Given the description of an element on the screen output the (x, y) to click on. 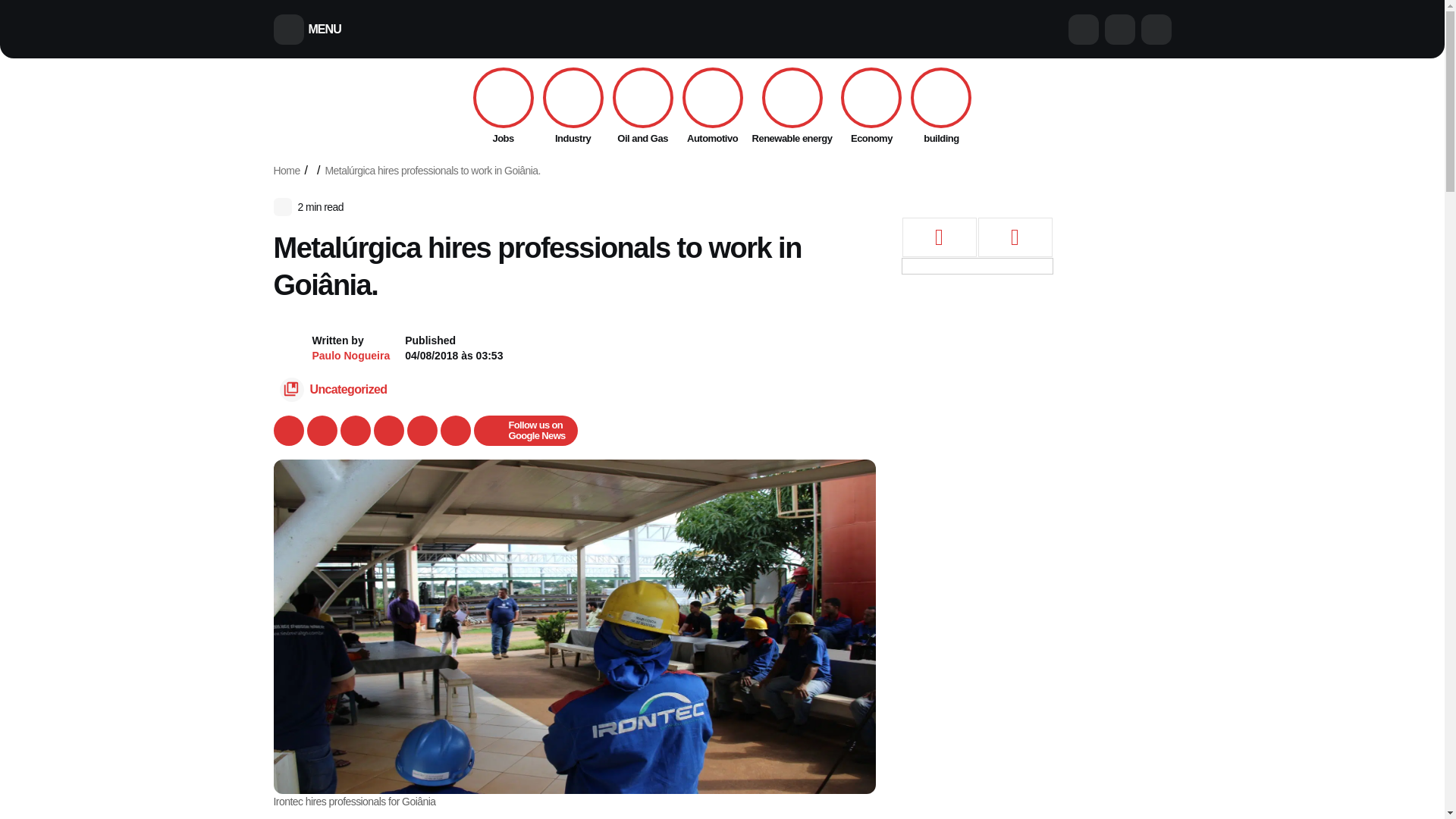
Recent comments (1014, 237)
Most commented posts (938, 237)
